Given the description of an element on the screen output the (x, y) to click on. 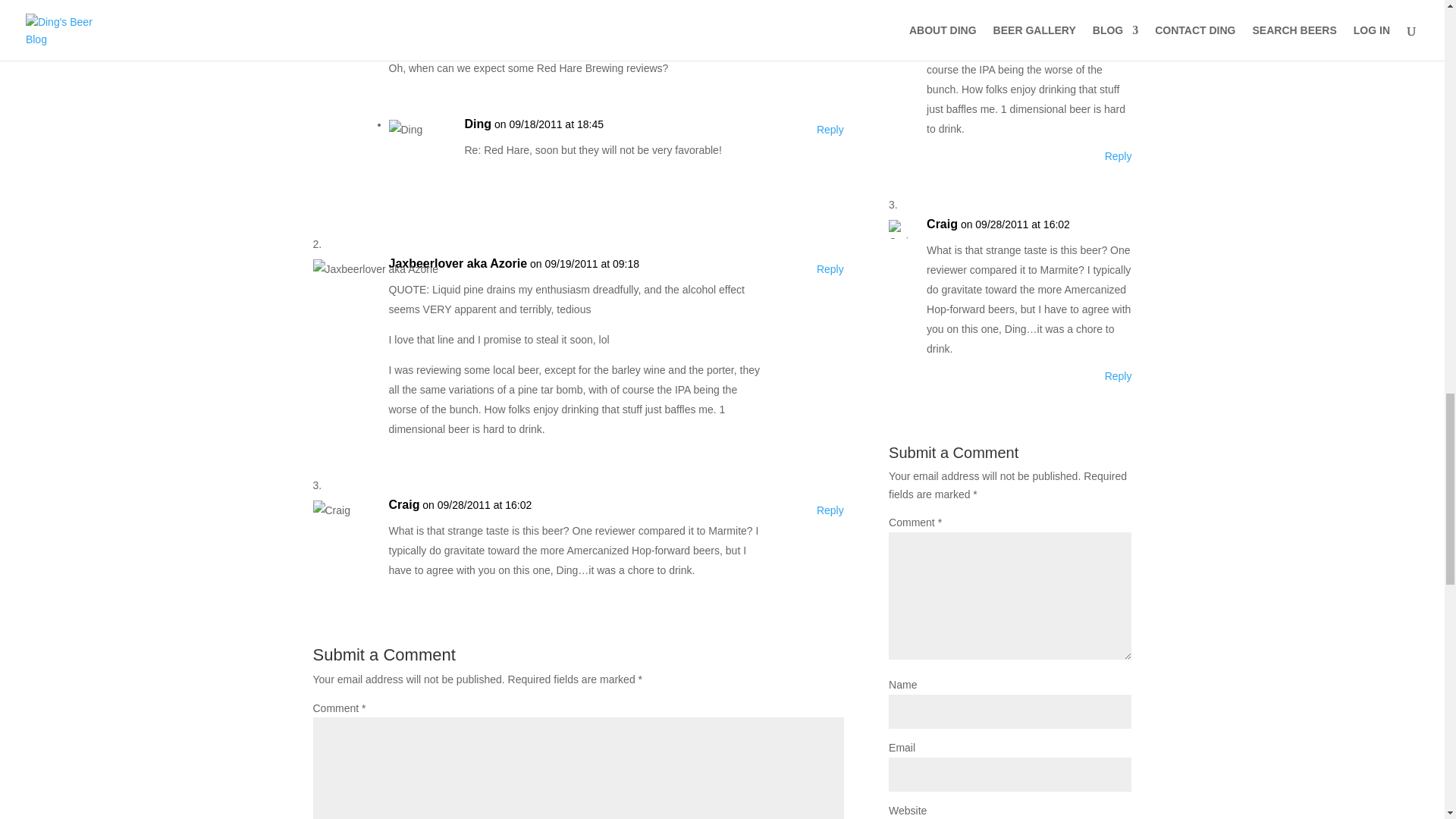
Reply (830, 3)
Reply (830, 510)
Reply (830, 129)
Reply (830, 269)
Reply (1118, 156)
Reply (1118, 375)
